Given the description of an element on the screen output the (x, y) to click on. 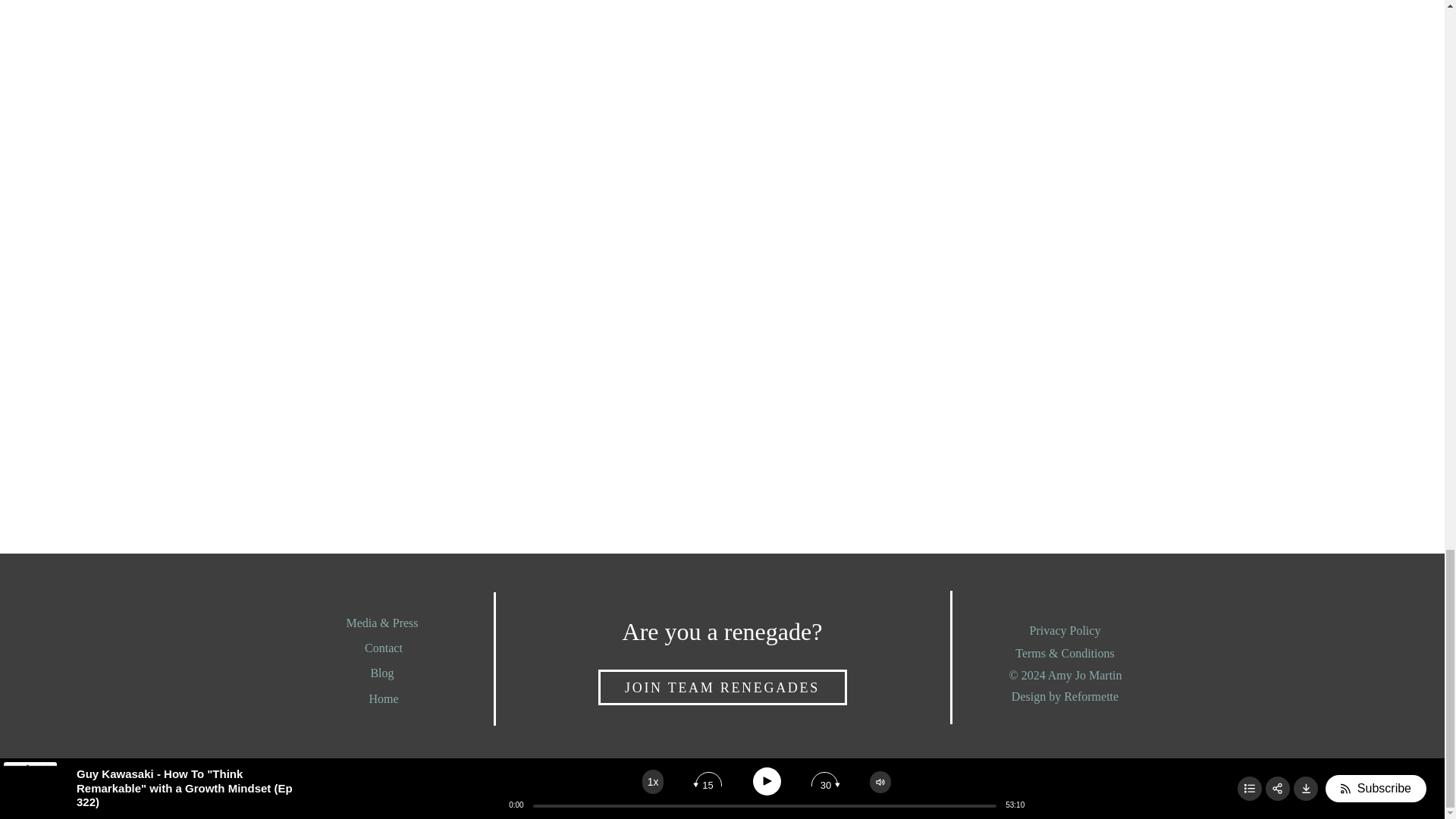
Privacy Policy (1064, 632)
Contact (384, 650)
Blog (384, 674)
Home (384, 700)
Design by Reformette (1064, 698)
